Given the description of an element on the screen output the (x, y) to click on. 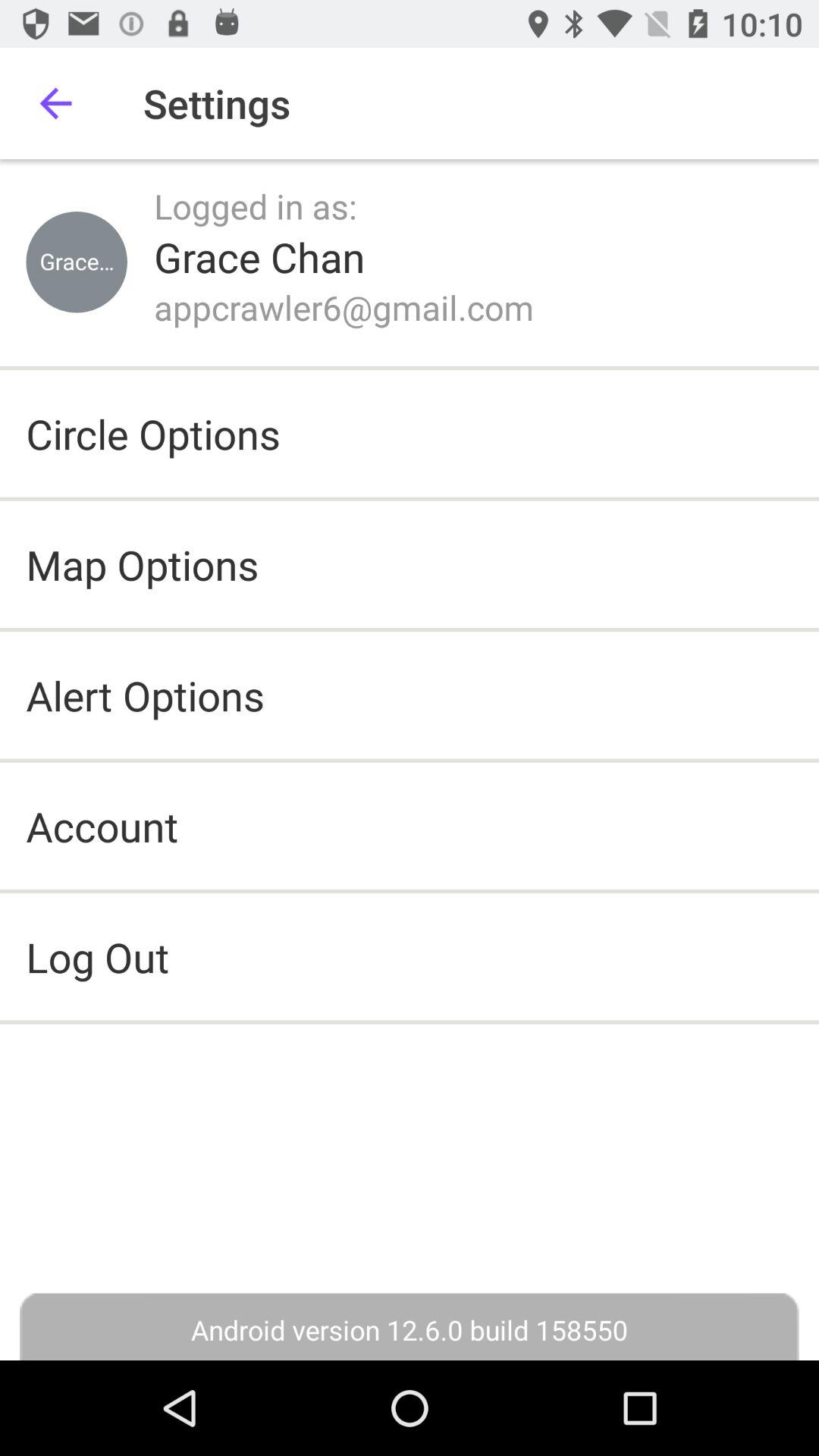
turn on icon above the android version 12 (409, 956)
